Given the description of an element on the screen output the (x, y) to click on. 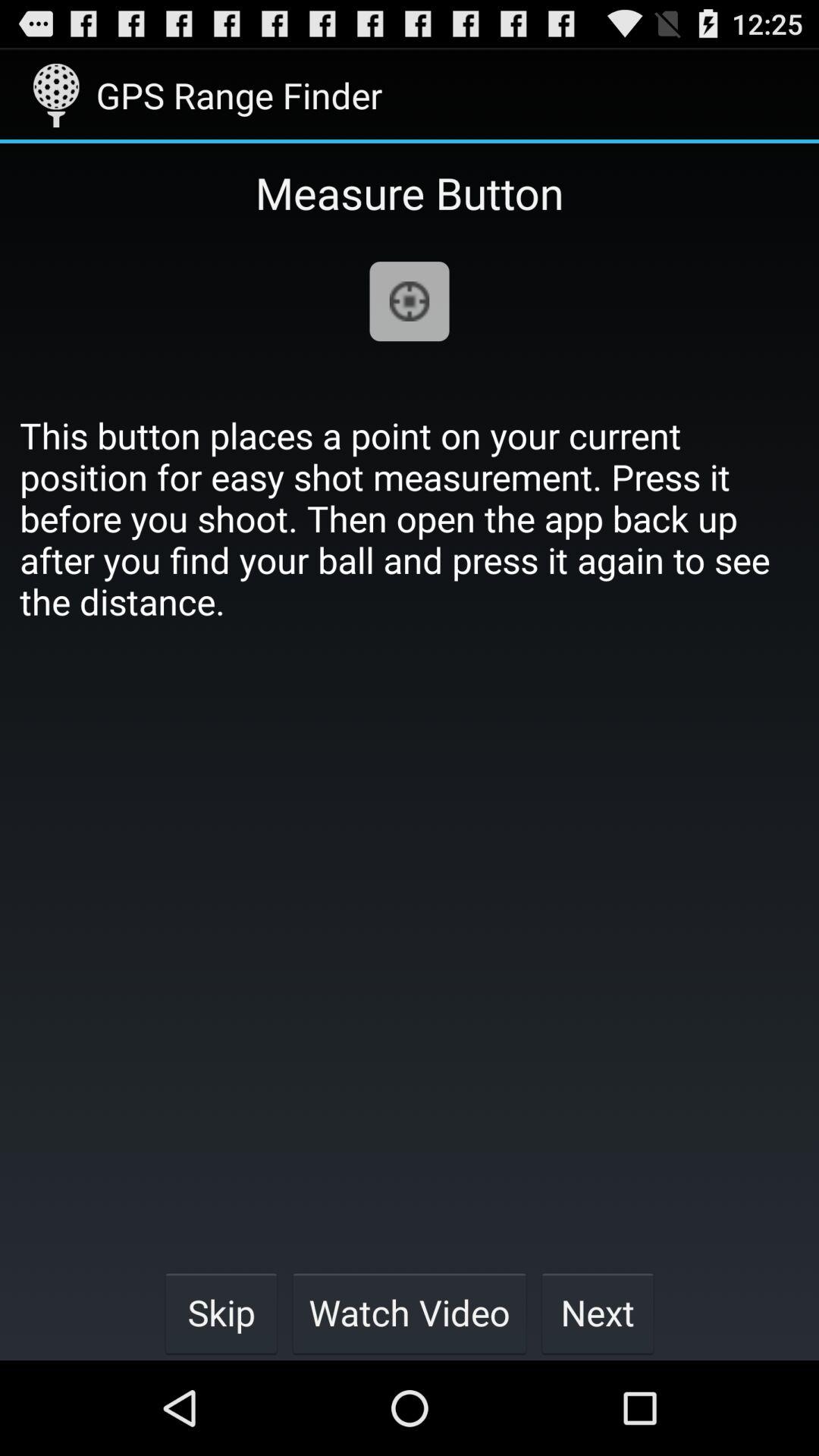
turn on item above the this button places (409, 301)
